Given the description of an element on the screen output the (x, y) to click on. 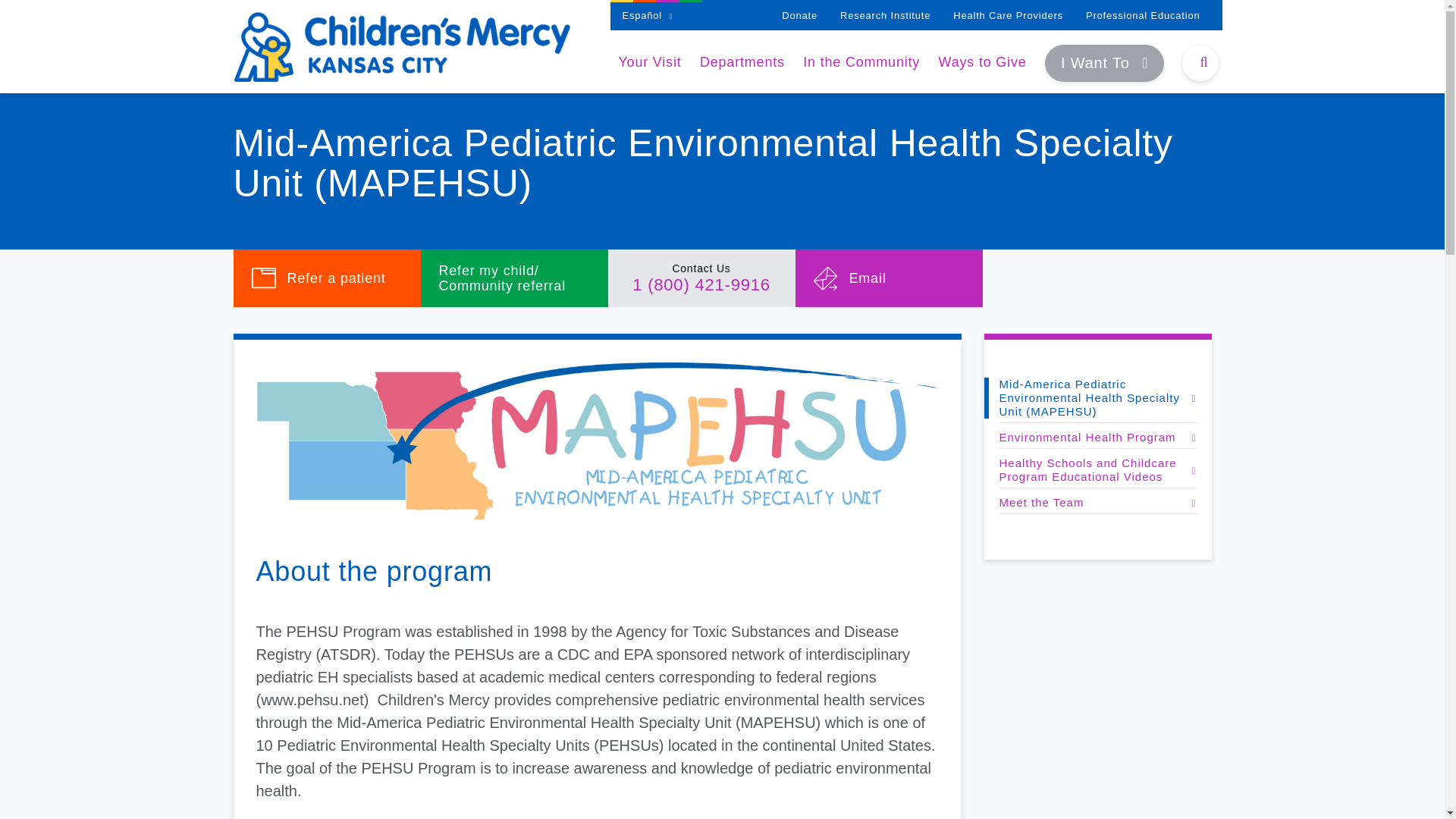
Children's Mercy Research Institute (885, 15)
In the Community (861, 61)
Donate (798, 15)
Health Care Providers (1007, 15)
Professional Education (1142, 15)
Your Visit (649, 61)
Information for health care providers (1007, 15)
Ways to Give (982, 61)
Research Institute (885, 15)
Donate (798, 15)
I Want To (1104, 63)
Departments (742, 61)
Information for prospective fellows, residents and others (1142, 15)
